Given the description of an element on the screen output the (x, y) to click on. 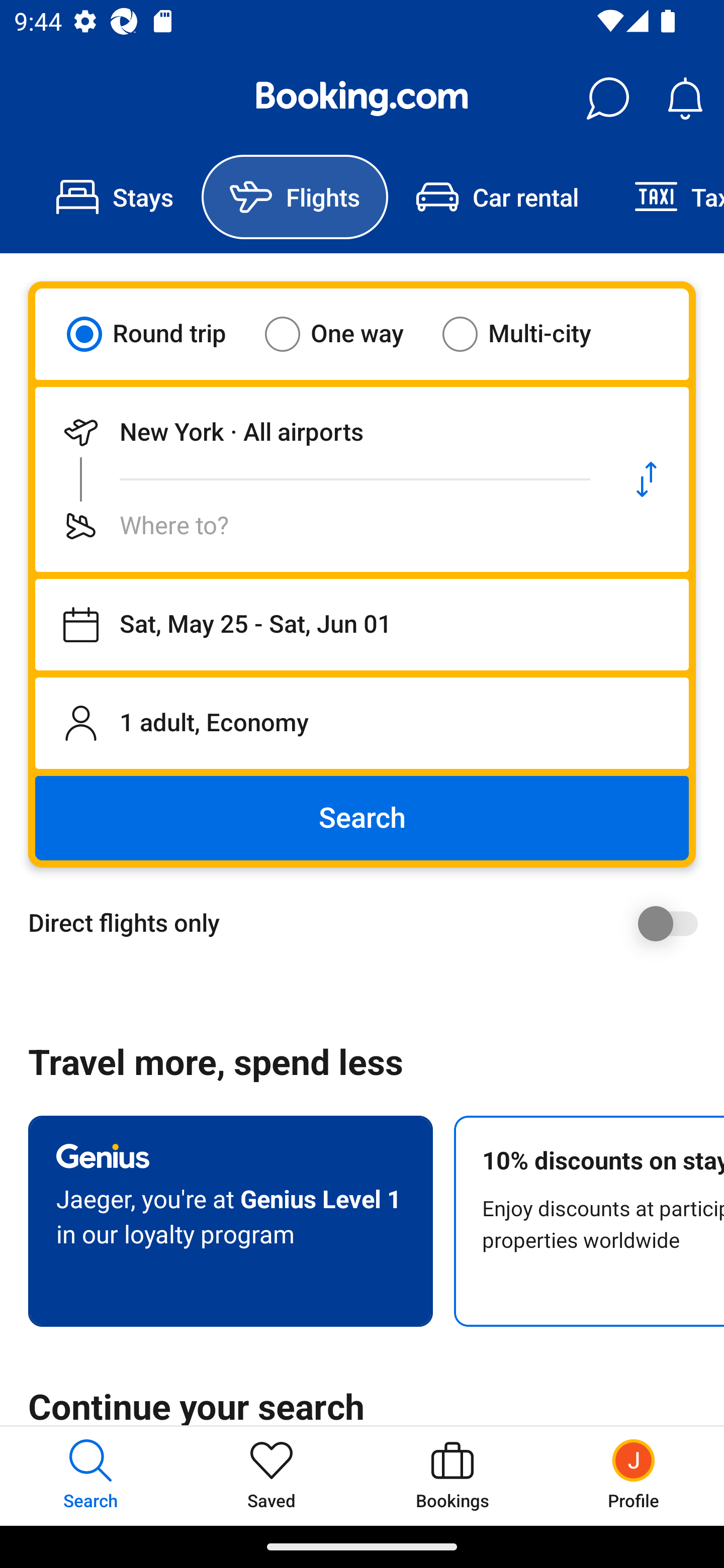
Messages (607, 98)
Notifications (685, 98)
Stays (114, 197)
Flights (294, 197)
Car rental (497, 197)
Taxi (665, 197)
One way (346, 333)
Multi-city (528, 333)
Departing from New York · All airports (319, 432)
Swap departure location and destination (646, 479)
Flying to  (319, 525)
Departing on Sat, May 25, returning on Sat, Jun 01 (361, 624)
1 adult, Economy (361, 722)
Search (361, 818)
Direct flights only (369, 923)
Saved (271, 1475)
Bookings (452, 1475)
Profile (633, 1475)
